Given the description of an element on the screen output the (x, y) to click on. 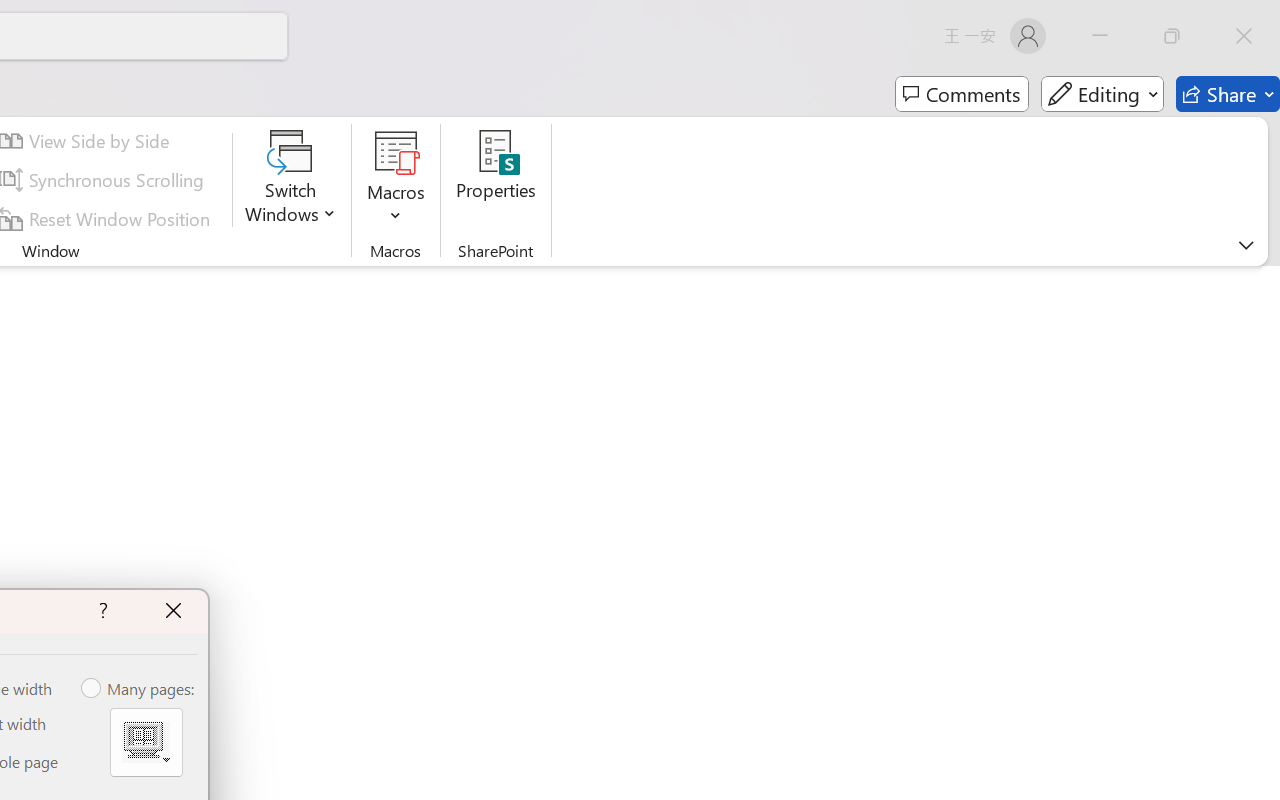
Editing (1101, 94)
Switch Windows (290, 179)
View Macros (395, 151)
